Given the description of an element on the screen output the (x, y) to click on. 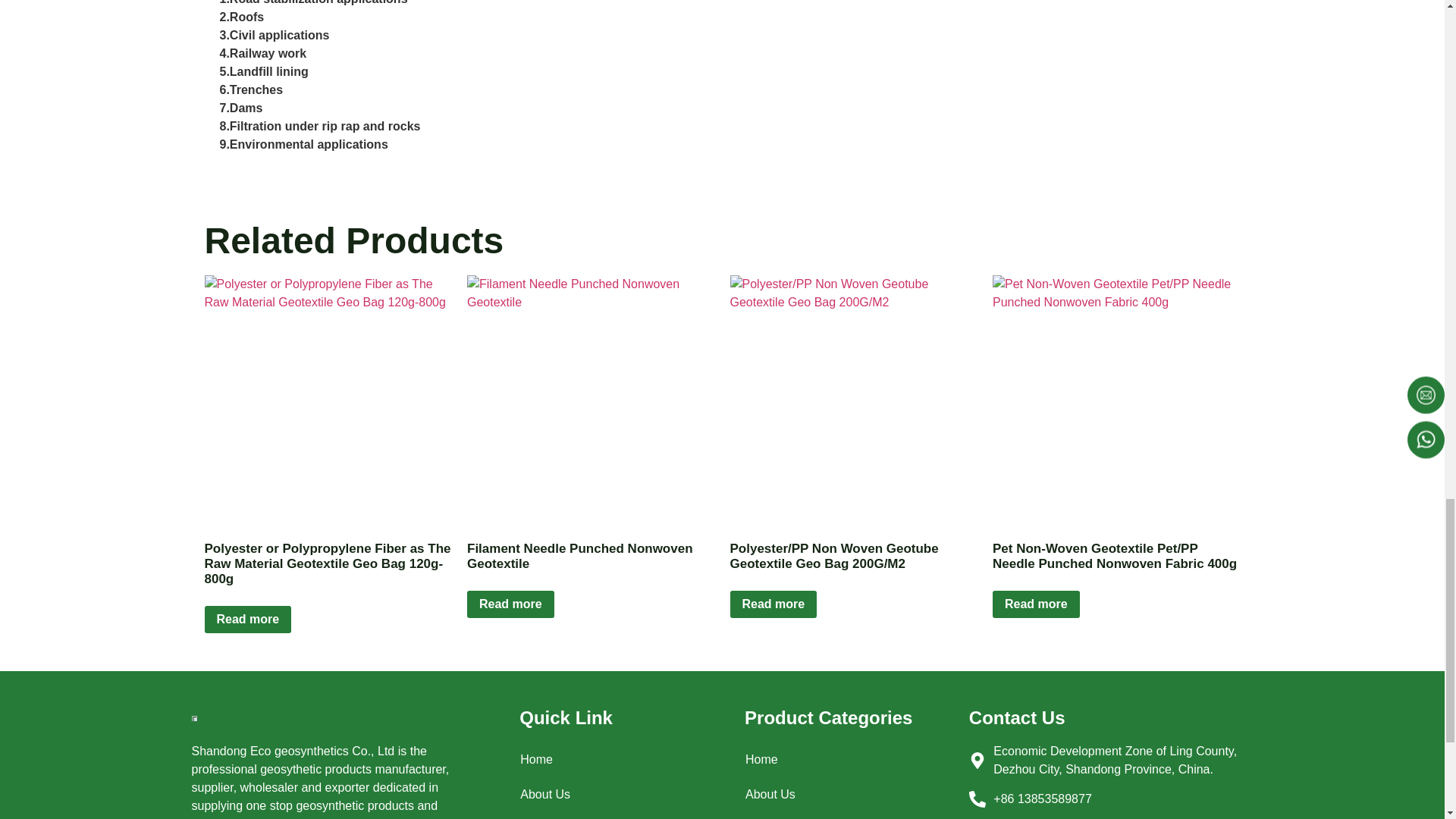
Filament Needle Punched Nonwoven Geotextile (590, 399)
